Given the description of an element on the screen output the (x, y) to click on. 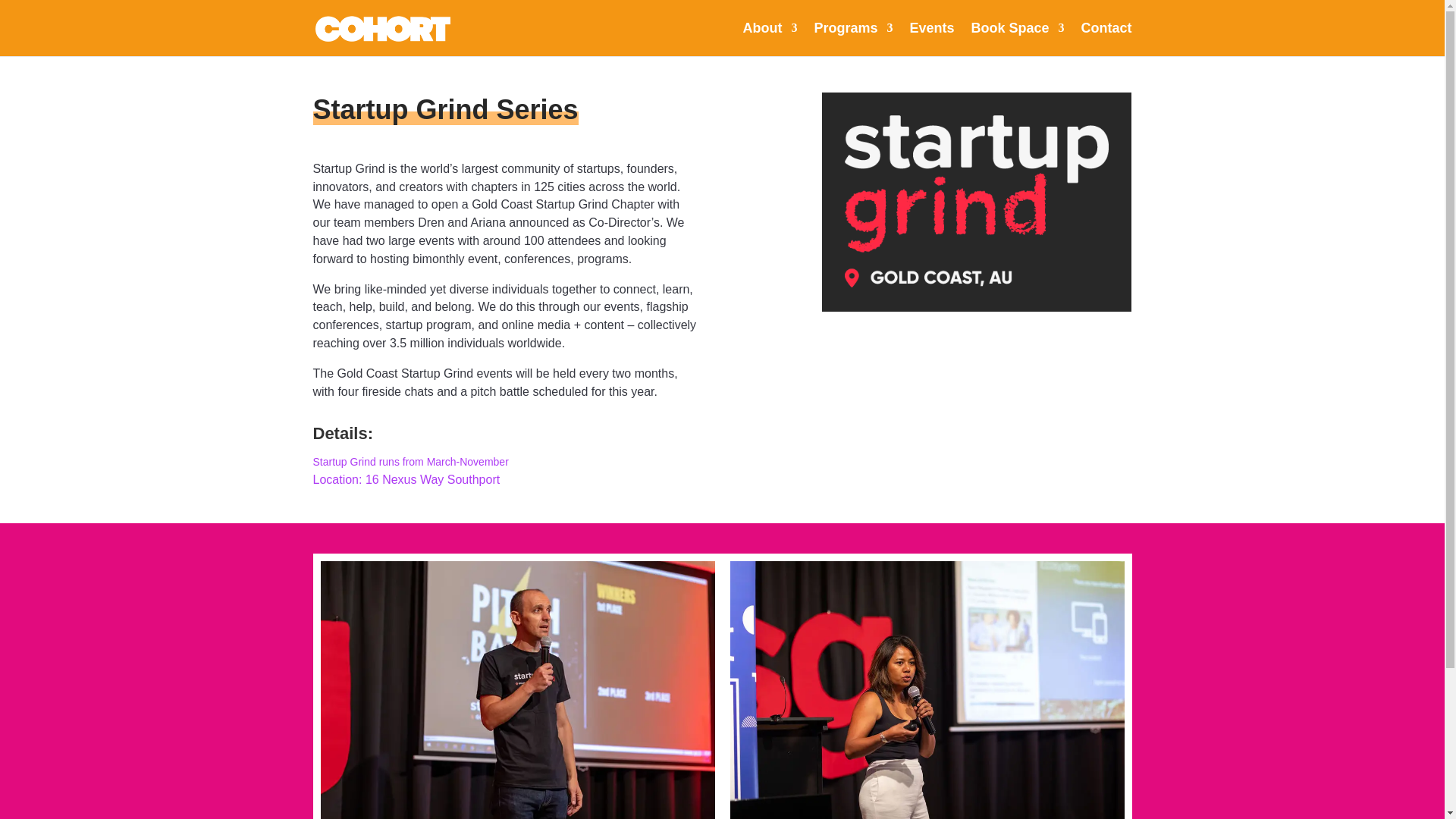
Events (930, 39)
About (769, 39)
Programs (852, 39)
Asset 2 (976, 202)
Contact (1106, 39)
Book Space (1017, 39)
